Given the description of an element on the screen output the (x, y) to click on. 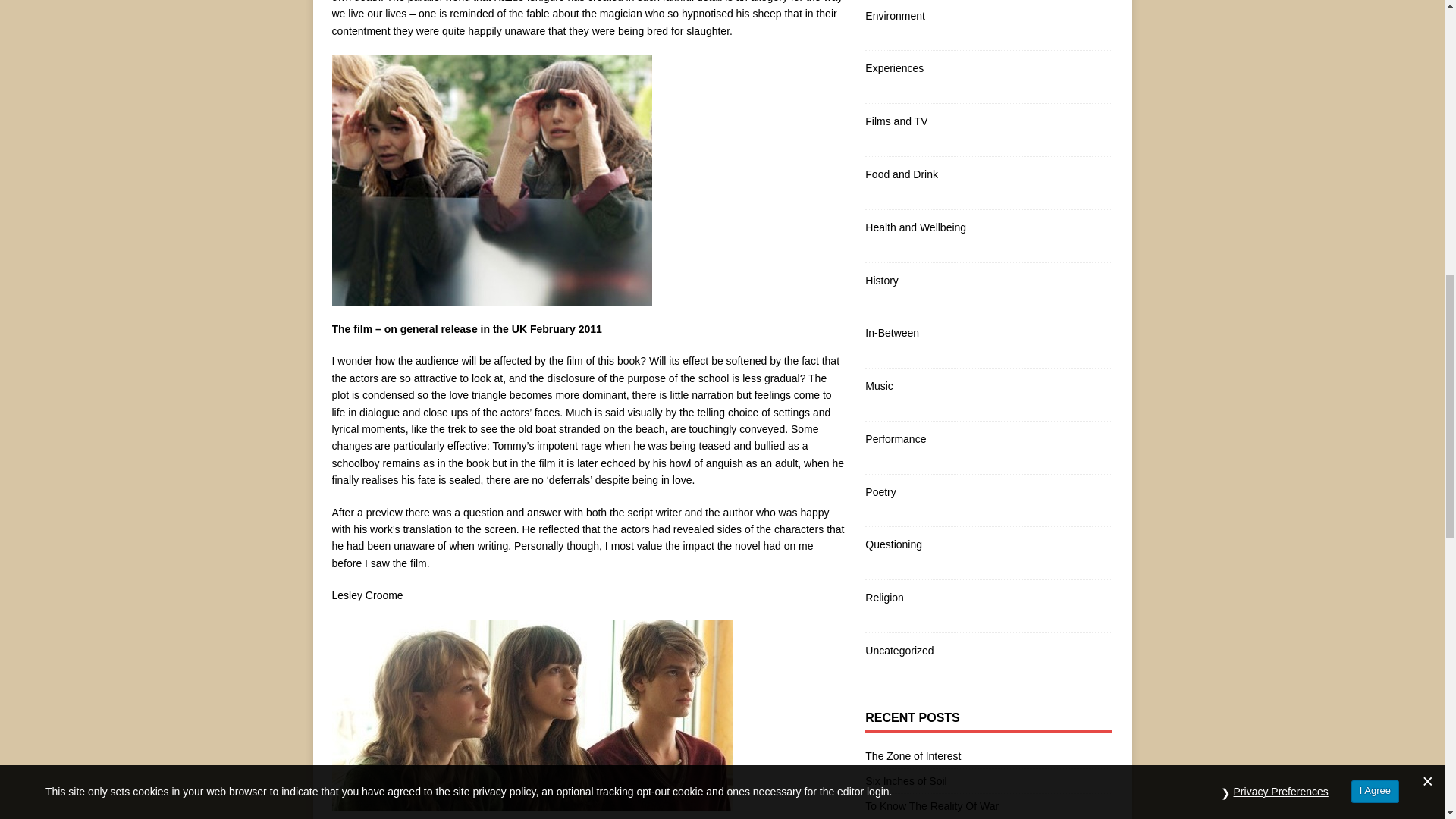
Performance (988, 438)
Six Inches of Soil (905, 780)
Films and TV (988, 120)
The Zone of Interest (912, 756)
History (988, 280)
Uncategorized (988, 650)
Questioning (988, 544)
Poetry (988, 491)
Religion (988, 597)
Environment (988, 15)
